Given the description of an element on the screen output the (x, y) to click on. 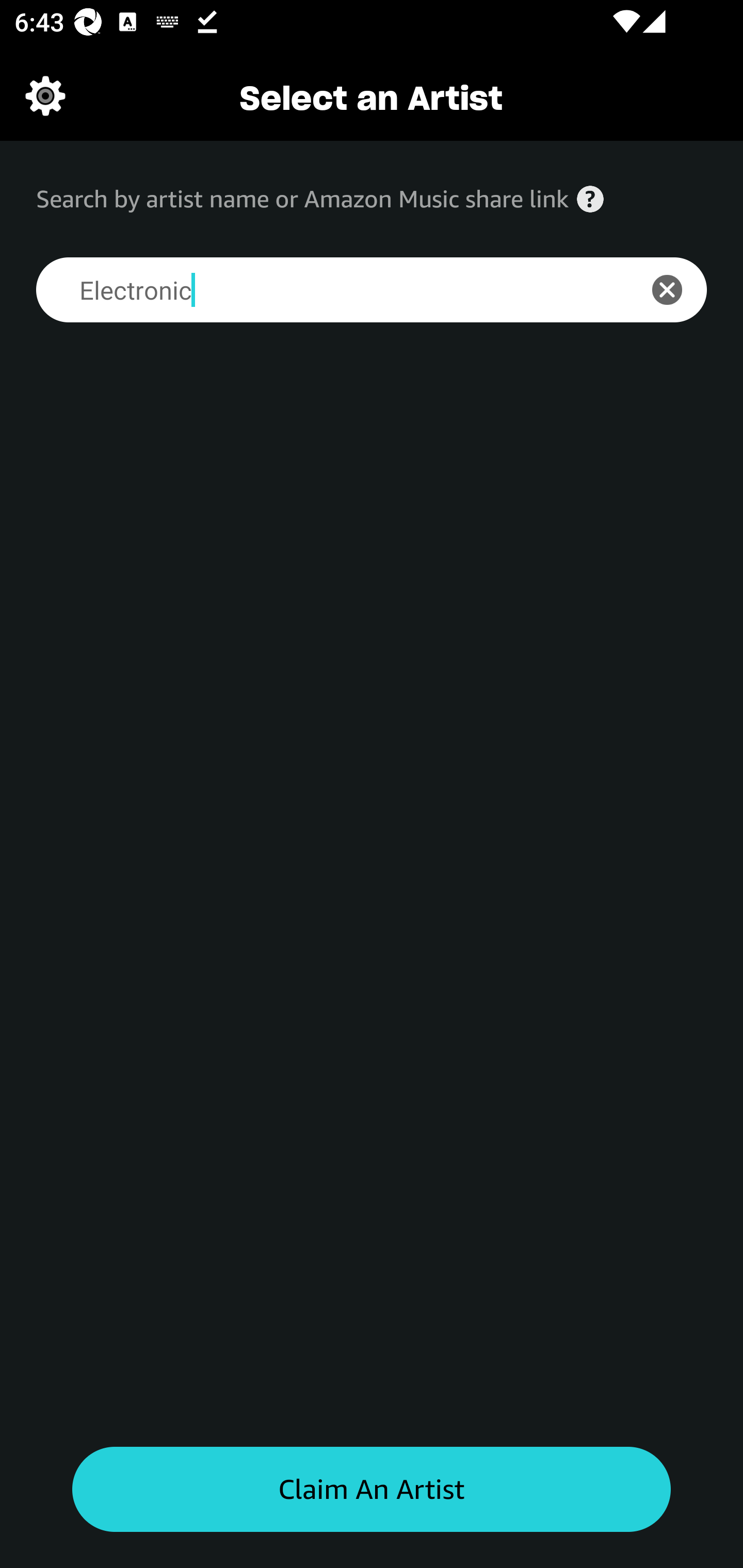
Help  icon (589, 199)
Electronic Search for an artist search bar (324, 290)
 icon (677, 290)
Claim an artist button Claim An Artist (371, 1489)
